Given the description of an element on the screen output the (x, y) to click on. 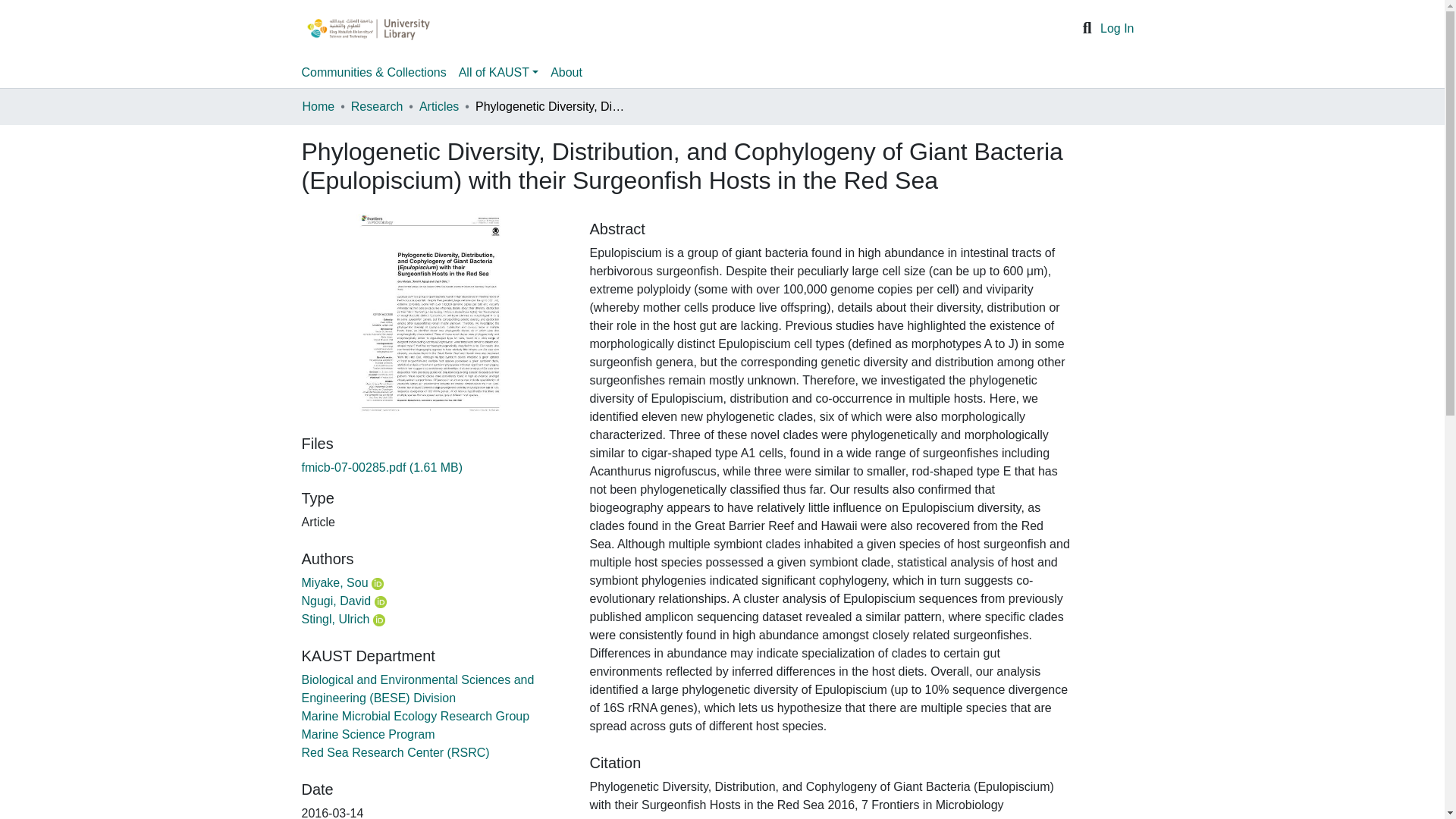
About (566, 72)
Search (1087, 28)
Log In (1117, 28)
Home (317, 106)
Miyake, Sou (334, 582)
About (566, 72)
Marine Science Program (368, 734)
Ngugi, David (336, 600)
All of KAUST (498, 72)
Stingl, Ulrich (335, 618)
Marine Microbial Ecology Research Group (415, 716)
Research (376, 106)
Articles (438, 106)
